Given the description of an element on the screen output the (x, y) to click on. 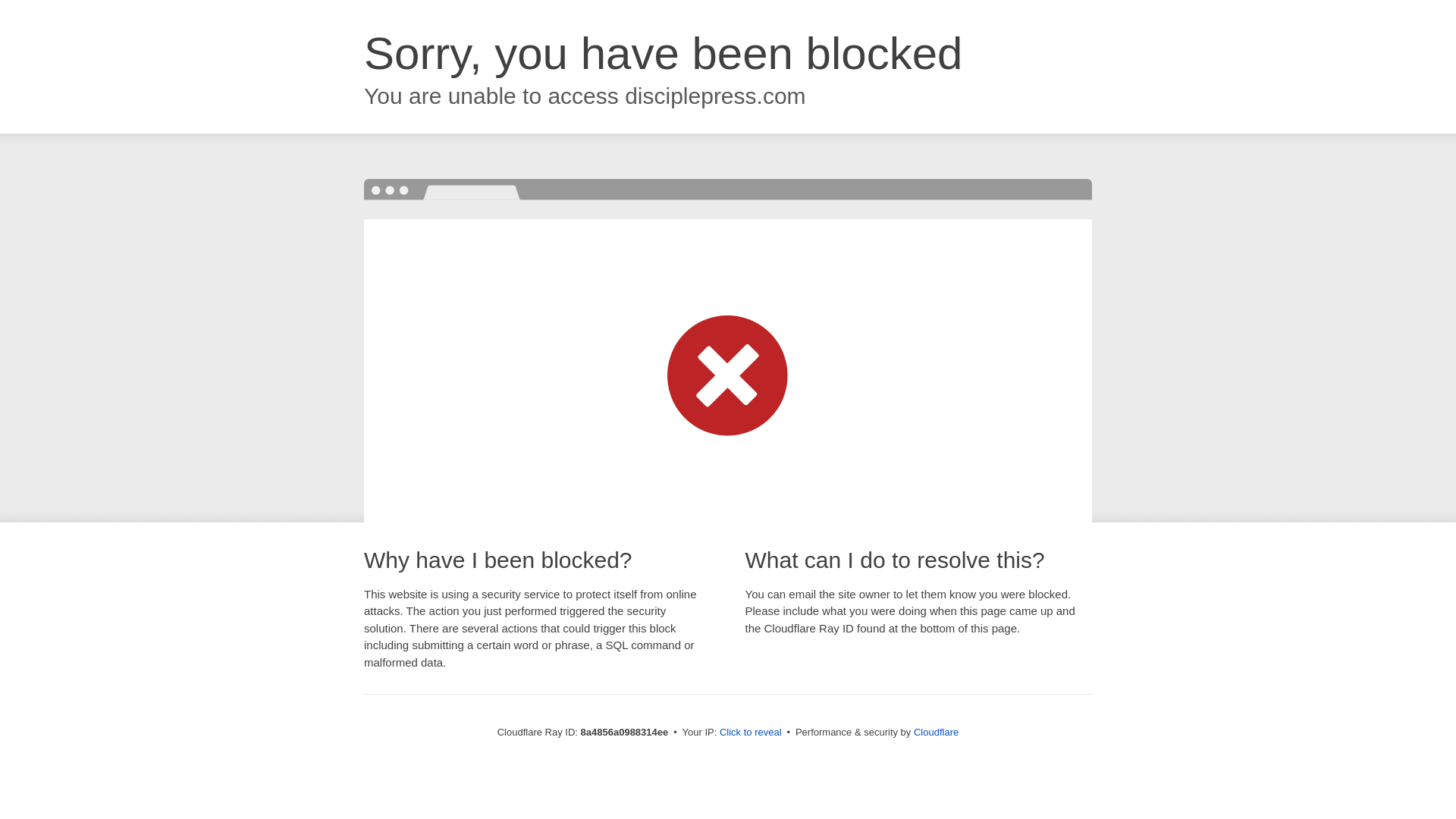
Click to reveal (750, 732)
Cloudflare (936, 731)
